Given the description of an element on the screen output the (x, y) to click on. 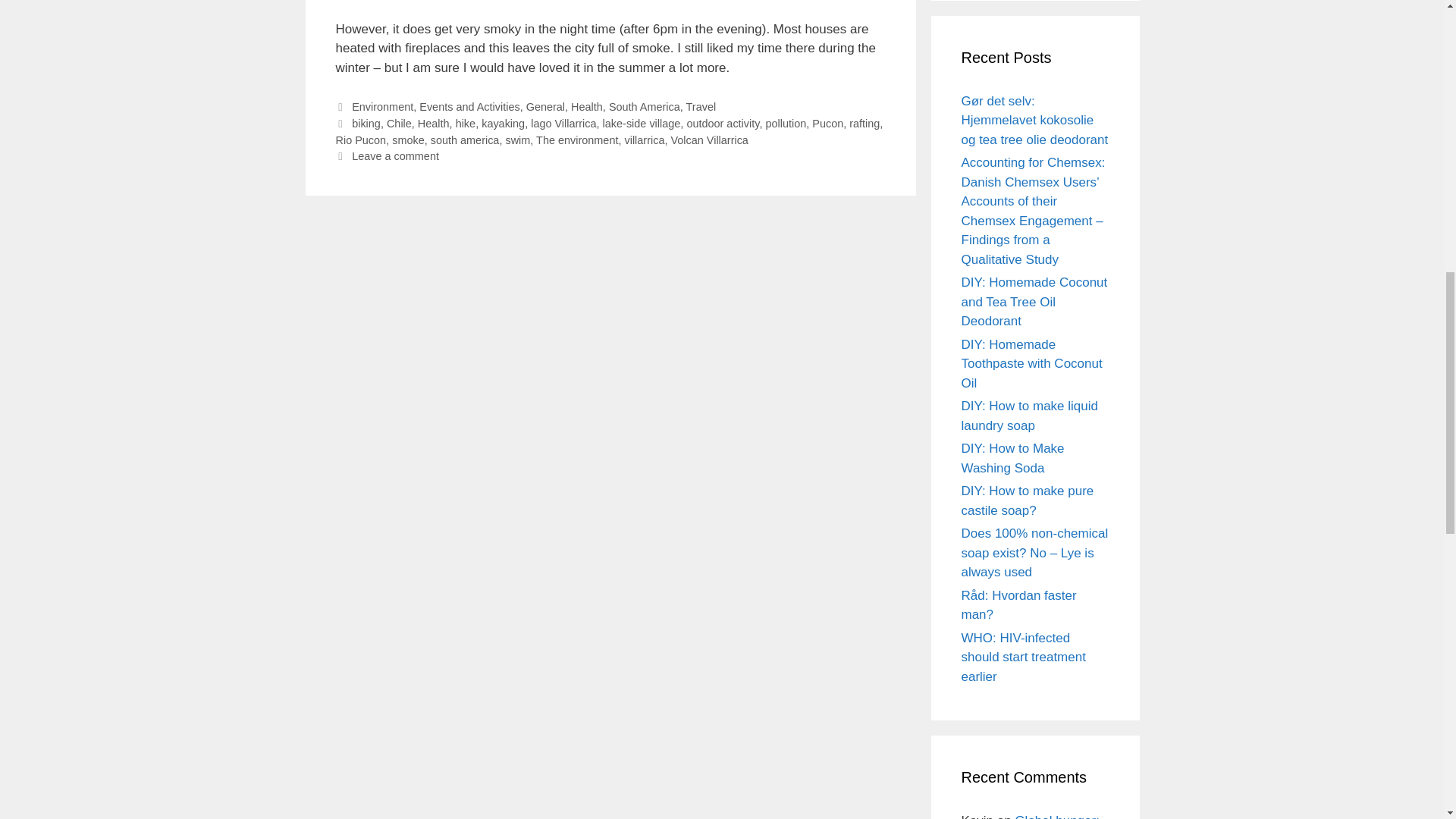
Chile (399, 123)
lake-side village (641, 123)
Environment (382, 106)
smoke (408, 139)
Health (586, 106)
General (544, 106)
lago Villarrica (563, 123)
rafting (863, 123)
hike (465, 123)
South America (643, 106)
